Given the description of an element on the screen output the (x, y) to click on. 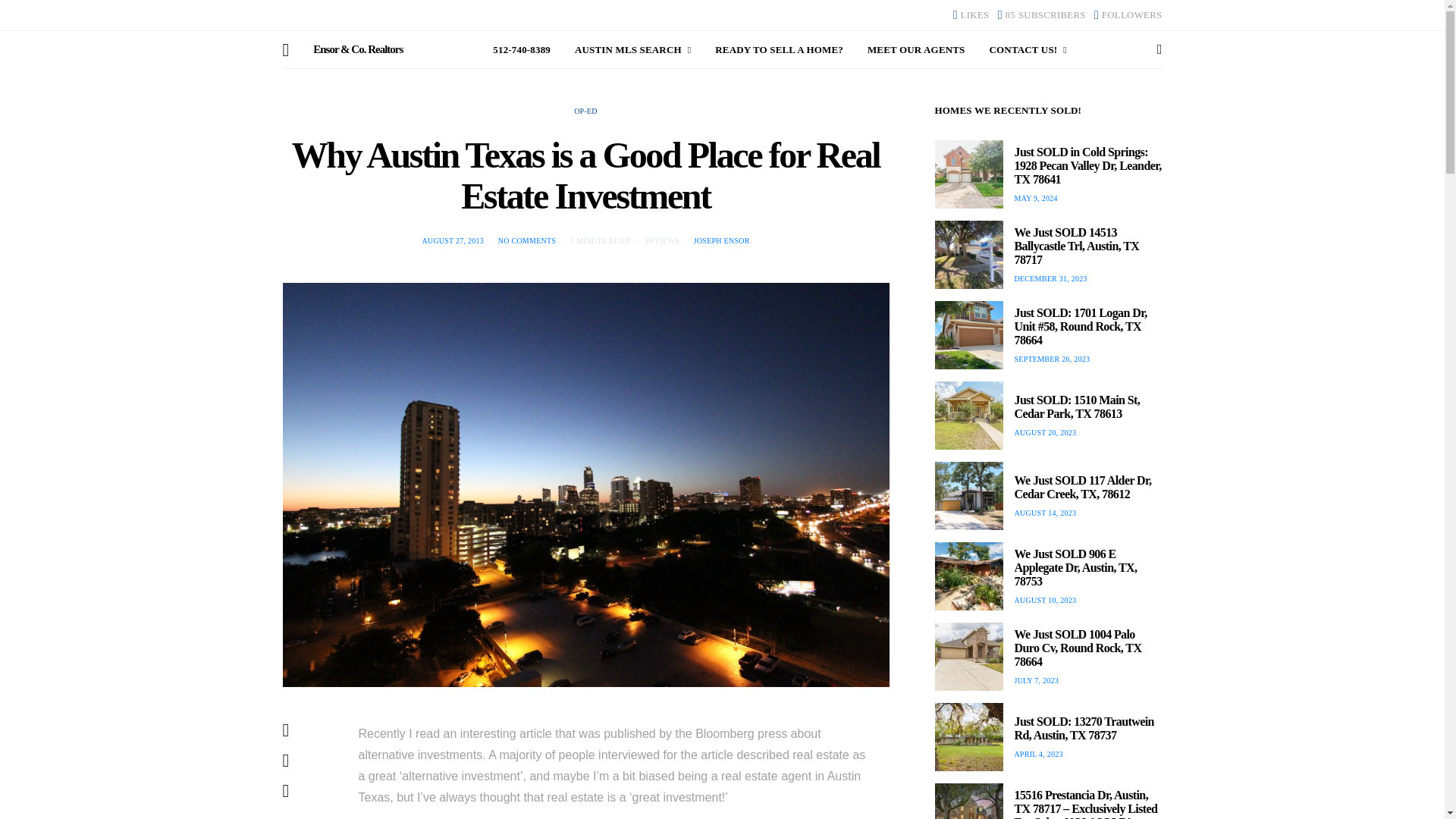
View all posts by Joseph Ensor (721, 240)
